Given the description of an element on the screen output the (x, y) to click on. 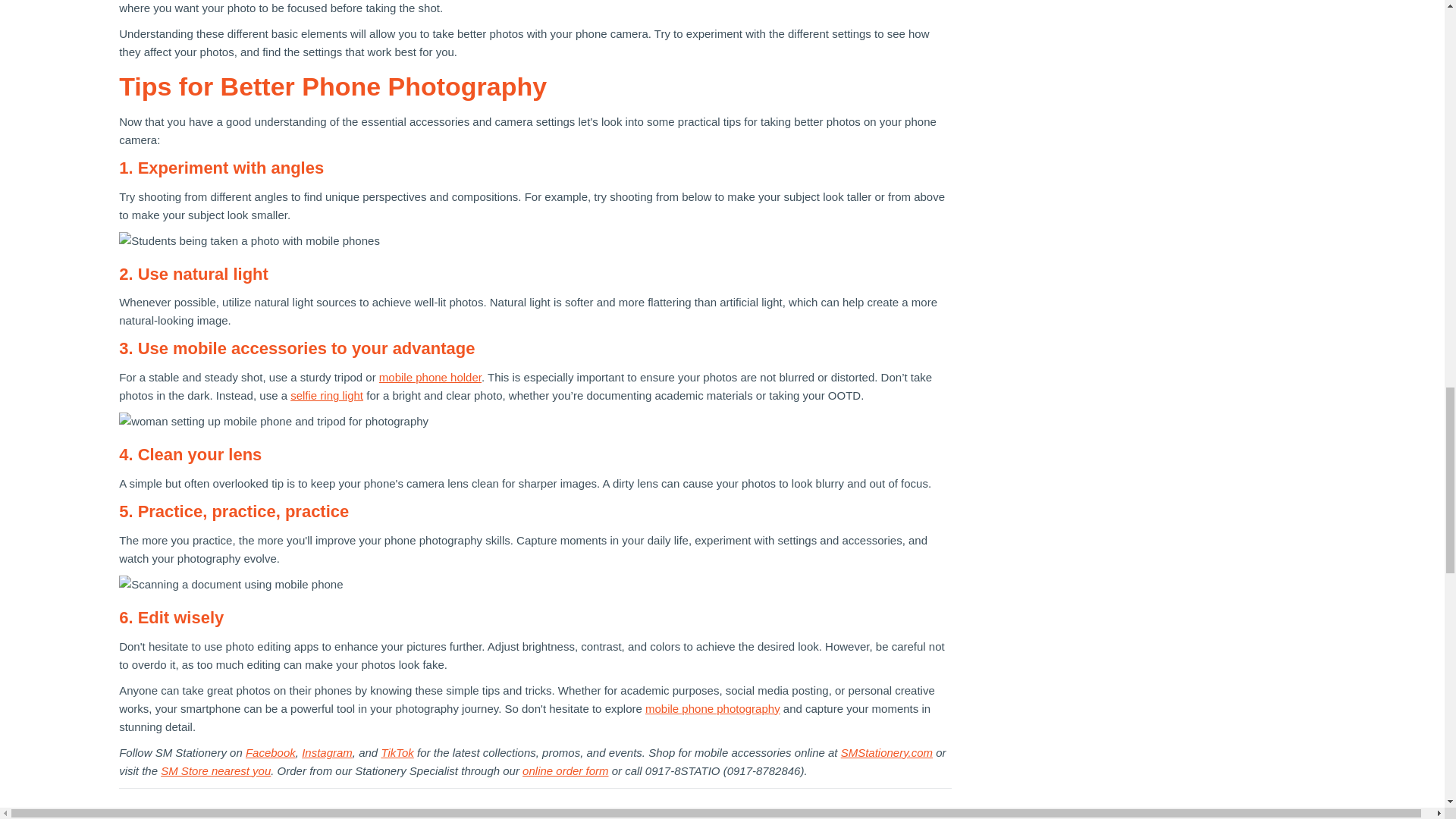
good pictures phone tips (712, 707)
SM Stationery TikTok Account (396, 752)
phone holder with standing bracket (429, 377)
selfie ringlight with 9cm magnifying glass (325, 395)
SM Stationery Instagram Account (326, 752)
SM Stationery Personal Shopper (565, 770)
SM Stationery Collections (887, 752)
SM Statiomery Store List (215, 770)
SM Stationery Facebook Account (270, 752)
